Given the description of an element on the screen output the (x, y) to click on. 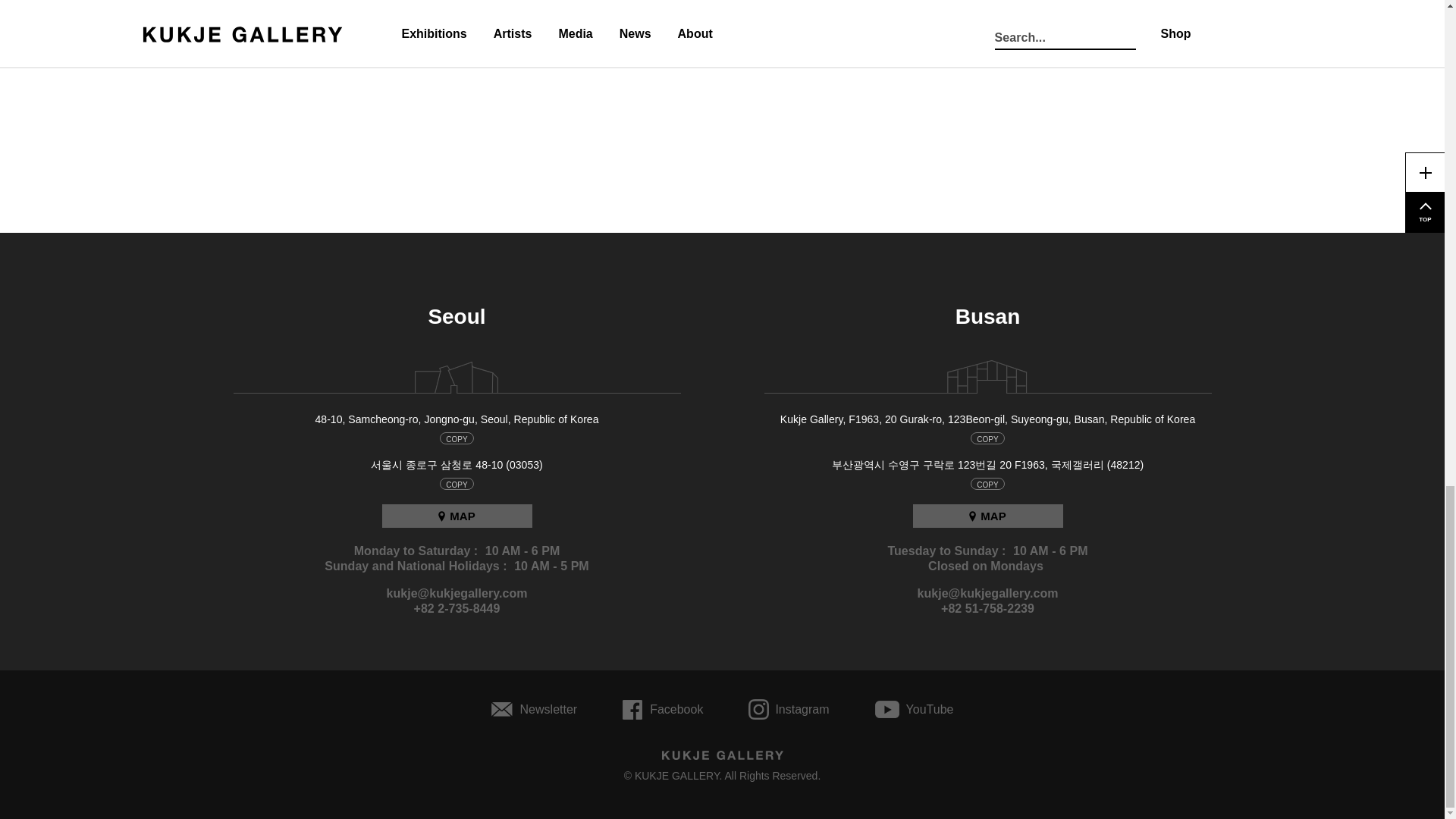
COPY (456, 483)
MAP (456, 515)
COPY (456, 438)
Seoul (456, 316)
